Given the description of an element on the screen output the (x, y) to click on. 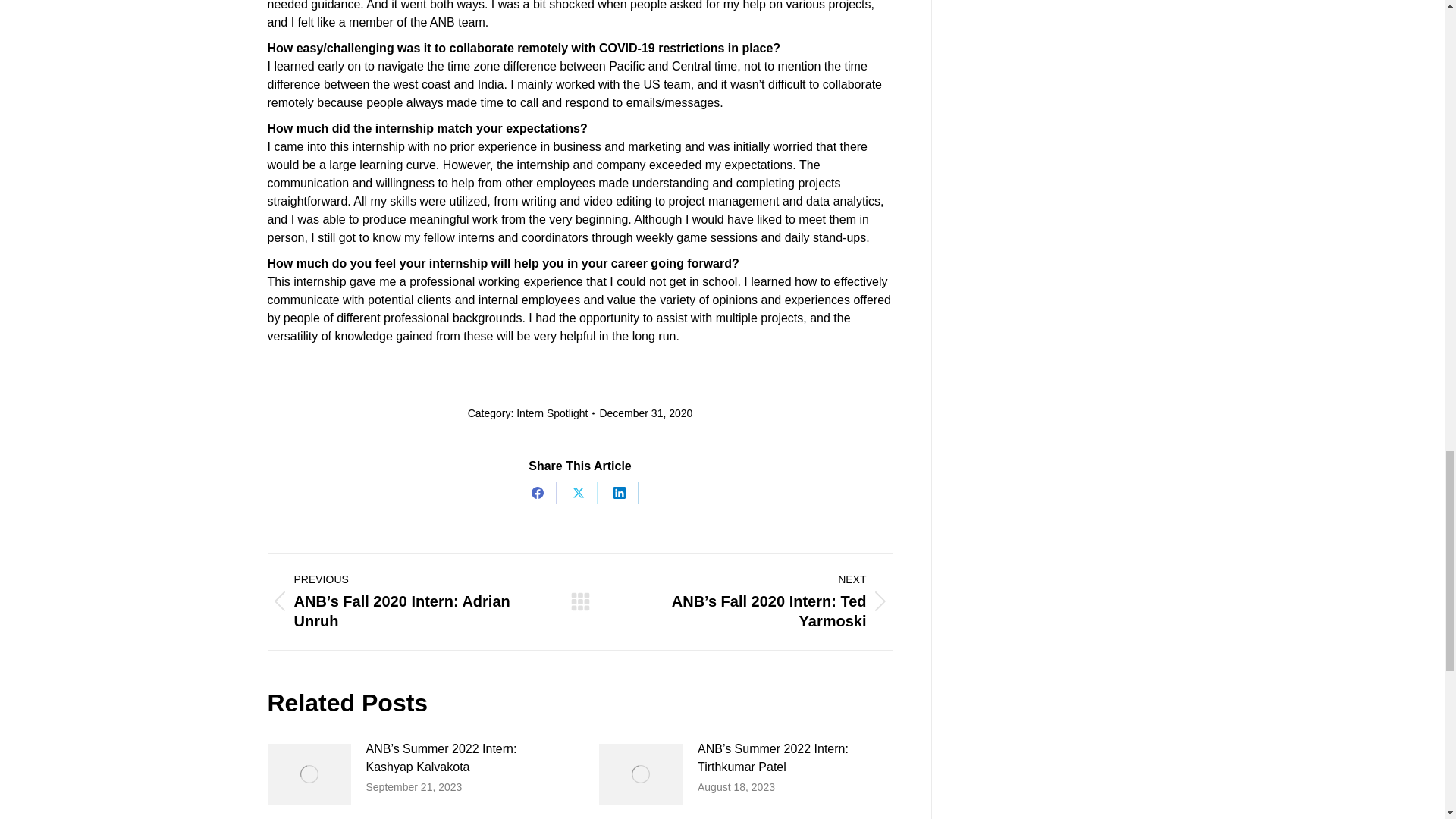
4:21 am (645, 413)
Facebook (537, 492)
LinkedIn (619, 492)
X (577, 492)
